Given the description of an element on the screen output the (x, y) to click on. 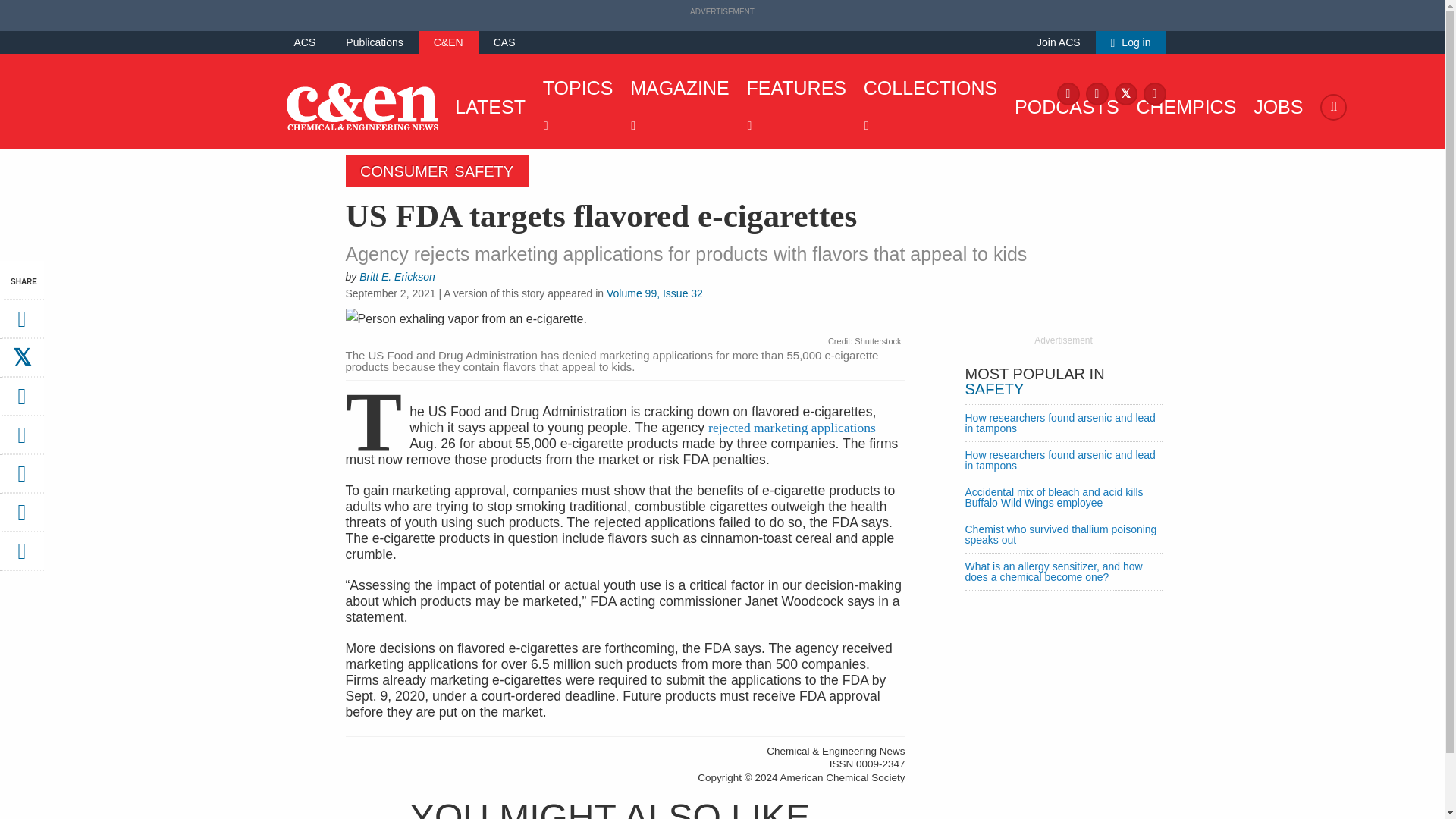
TOPICS (573, 106)
X (1126, 92)
WeChat (21, 479)
LinkedIn (1154, 92)
Person exhaling vapor from an e-cigarette. (625, 320)
Facebook (1068, 92)
Log in (1130, 42)
LATEST (485, 106)
Join ACS (1058, 42)
ACS (304, 42)
Instagram (1097, 92)
Publications (374, 42)
CAS (504, 42)
